Given the description of an element on the screen output the (x, y) to click on. 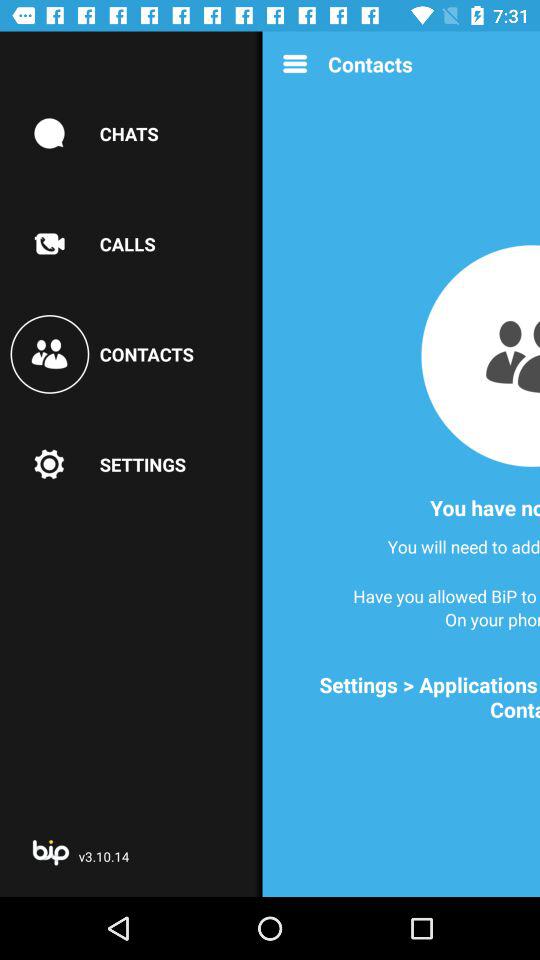
turn on the item below on your phone icon (407, 697)
